Given the description of an element on the screen output the (x, y) to click on. 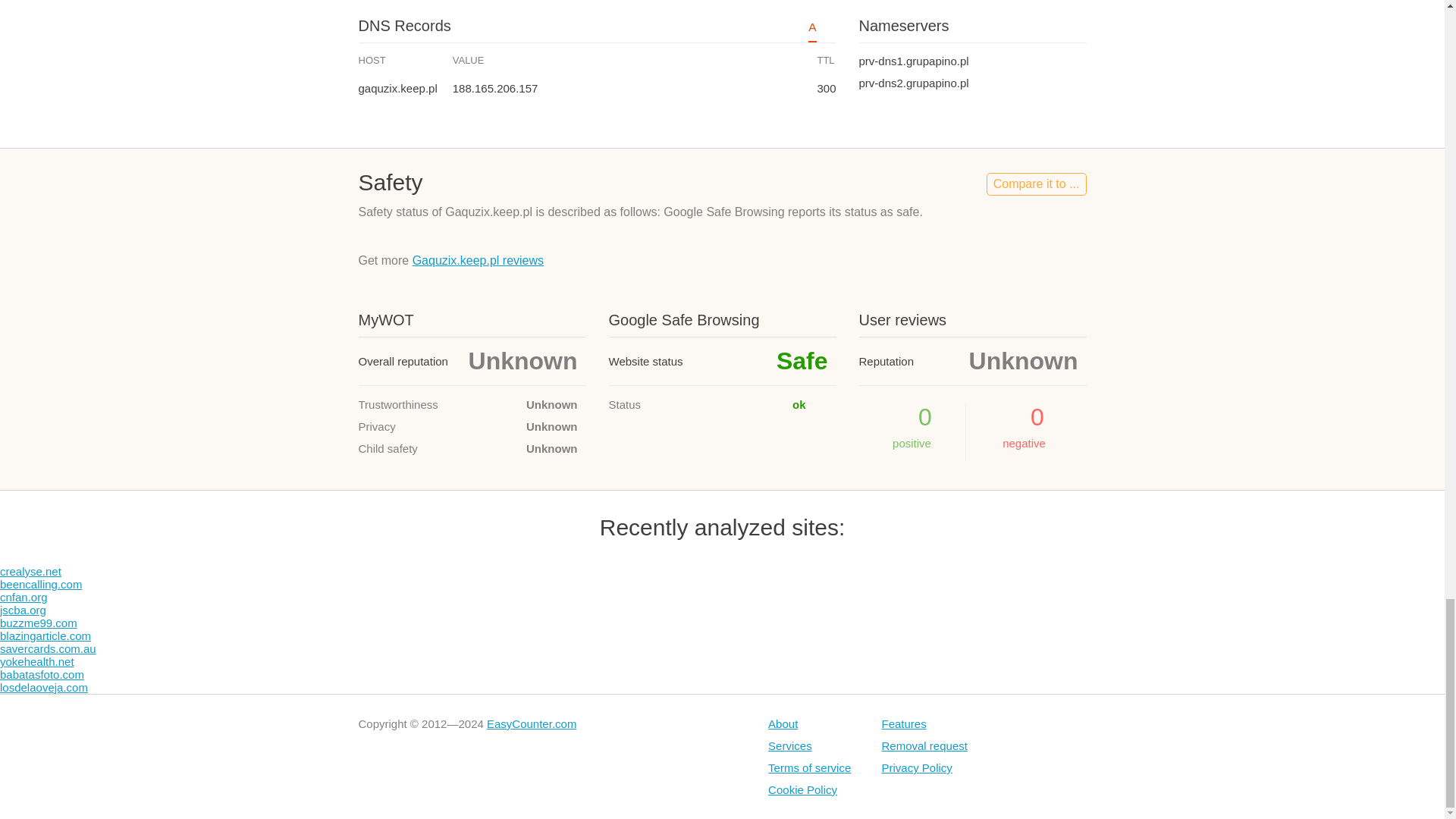
Gaquzix.keep.pl reviews (477, 259)
Compare it to ... (1036, 183)
crealyse.net (30, 571)
cnfan.org (24, 596)
beencalling.com (40, 584)
